Given the description of an element on the screen output the (x, y) to click on. 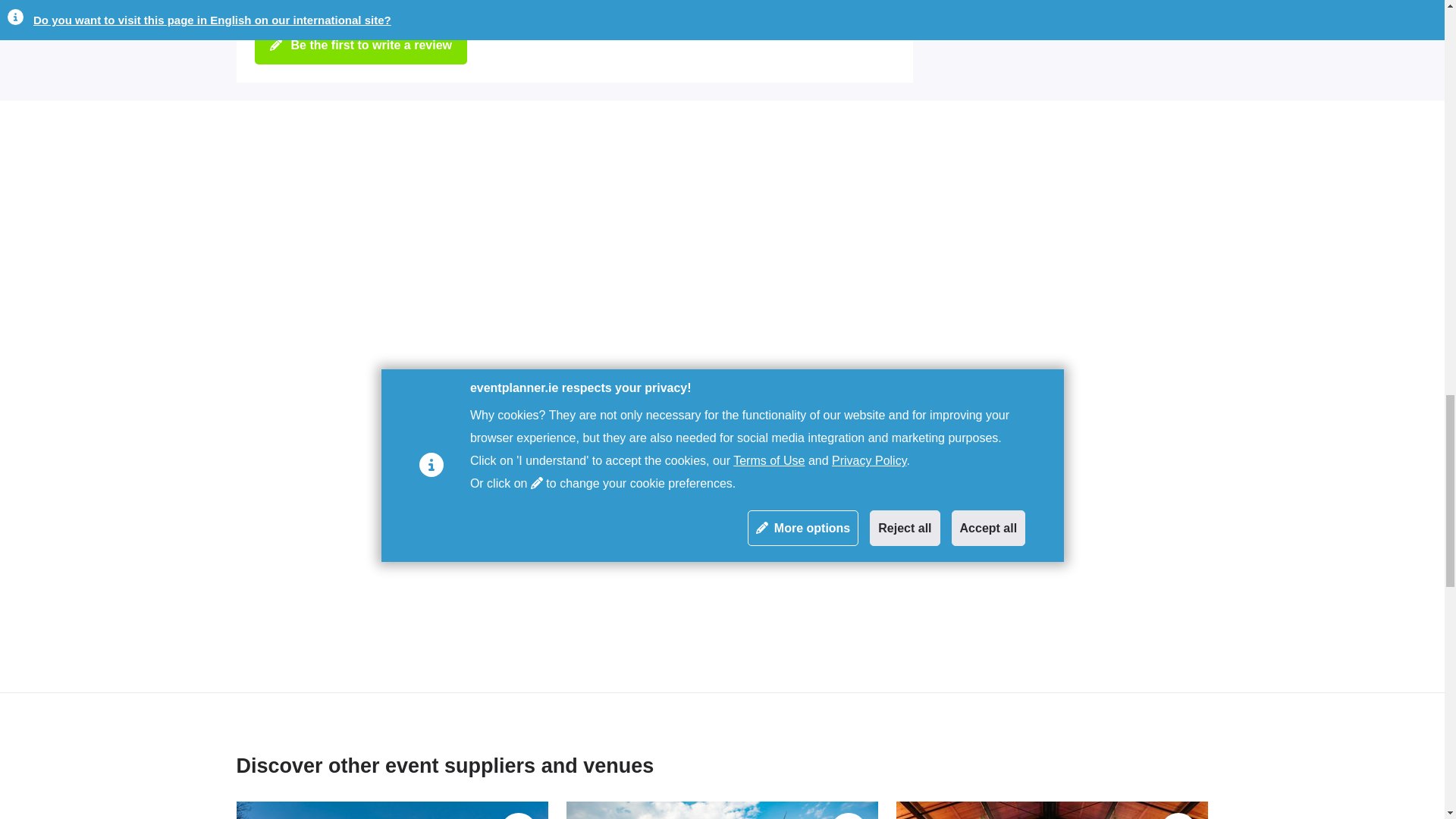
AED Studios (721, 810)
Eventhal Den Oven  (1052, 810)
